Given the description of an element on the screen output the (x, y) to click on. 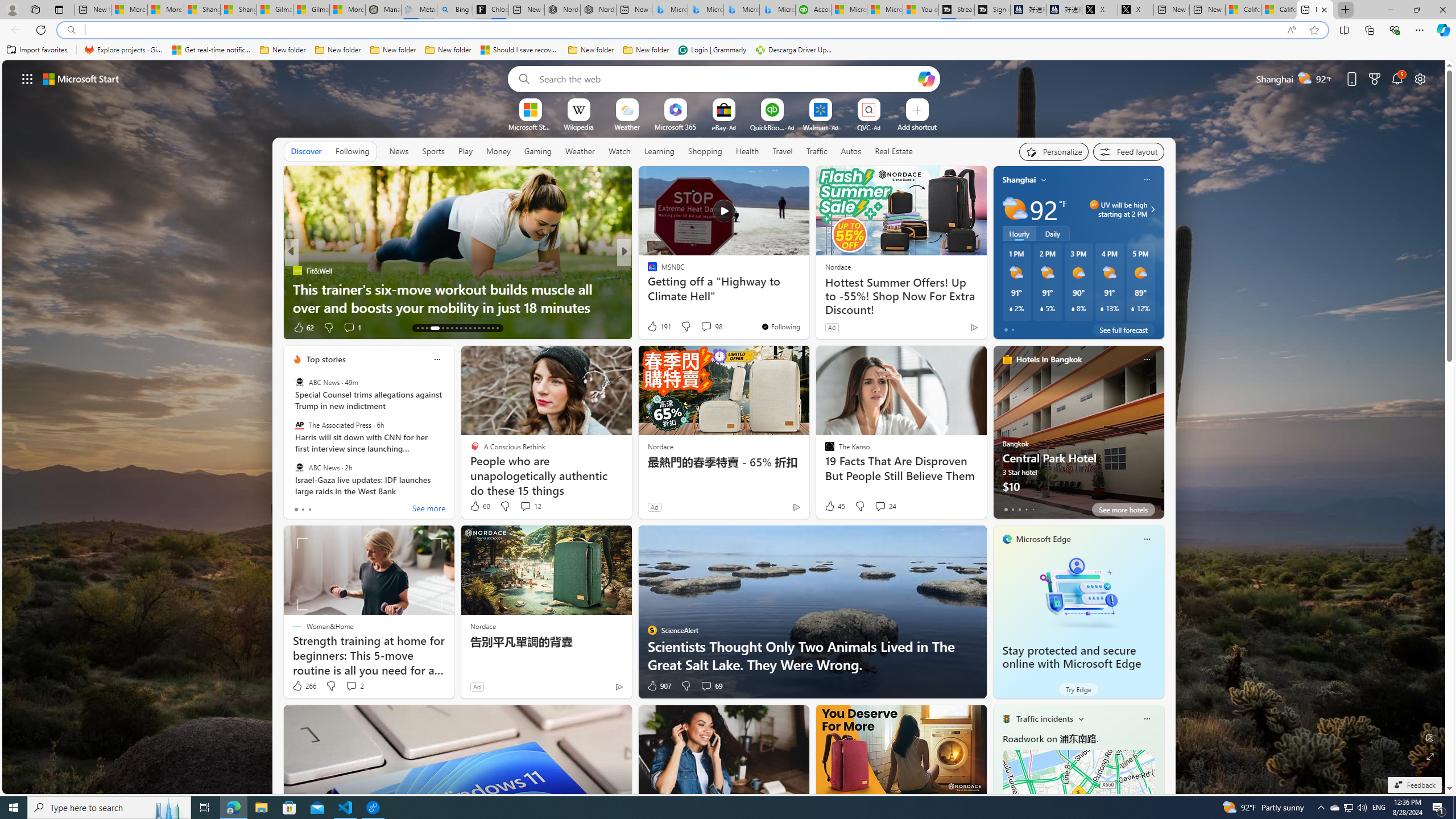
Forge of Empires (668, 288)
View comments 69 Comment (710, 685)
Partly sunny (1014, 208)
View comments 56 Comment (707, 327)
Are Humans the First Civilization_ The Silurian Hypothesis (807, 298)
AutomationID: tab-24 (474, 328)
View comments 56 Comment (703, 327)
Personalize your feed" (1054, 151)
AutomationID: tab-15 (426, 328)
